Given the description of an element on the screen output the (x, y) to click on. 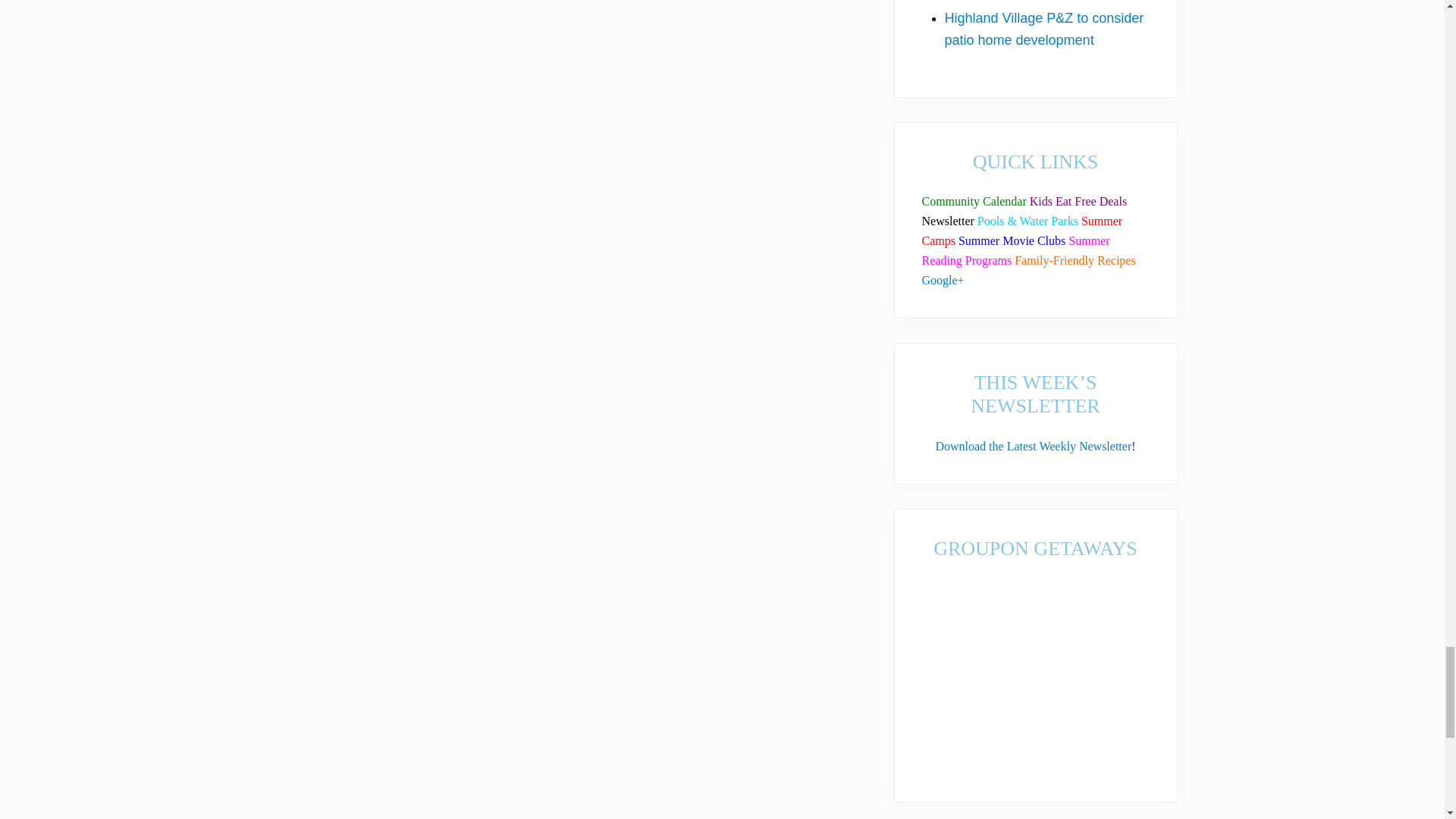
Summer Movie Clubs (1011, 240)
This week's newsletter (947, 220)
Kids Eat Free Flower Mound Lewisville Highland Village (1077, 201)
Community Calendar (973, 201)
Family Friendly Recipes (1074, 259)
Summer Reading Programs (1015, 250)
Summer Camps (1021, 230)
